Given the description of an element on the screen output the (x, y) to click on. 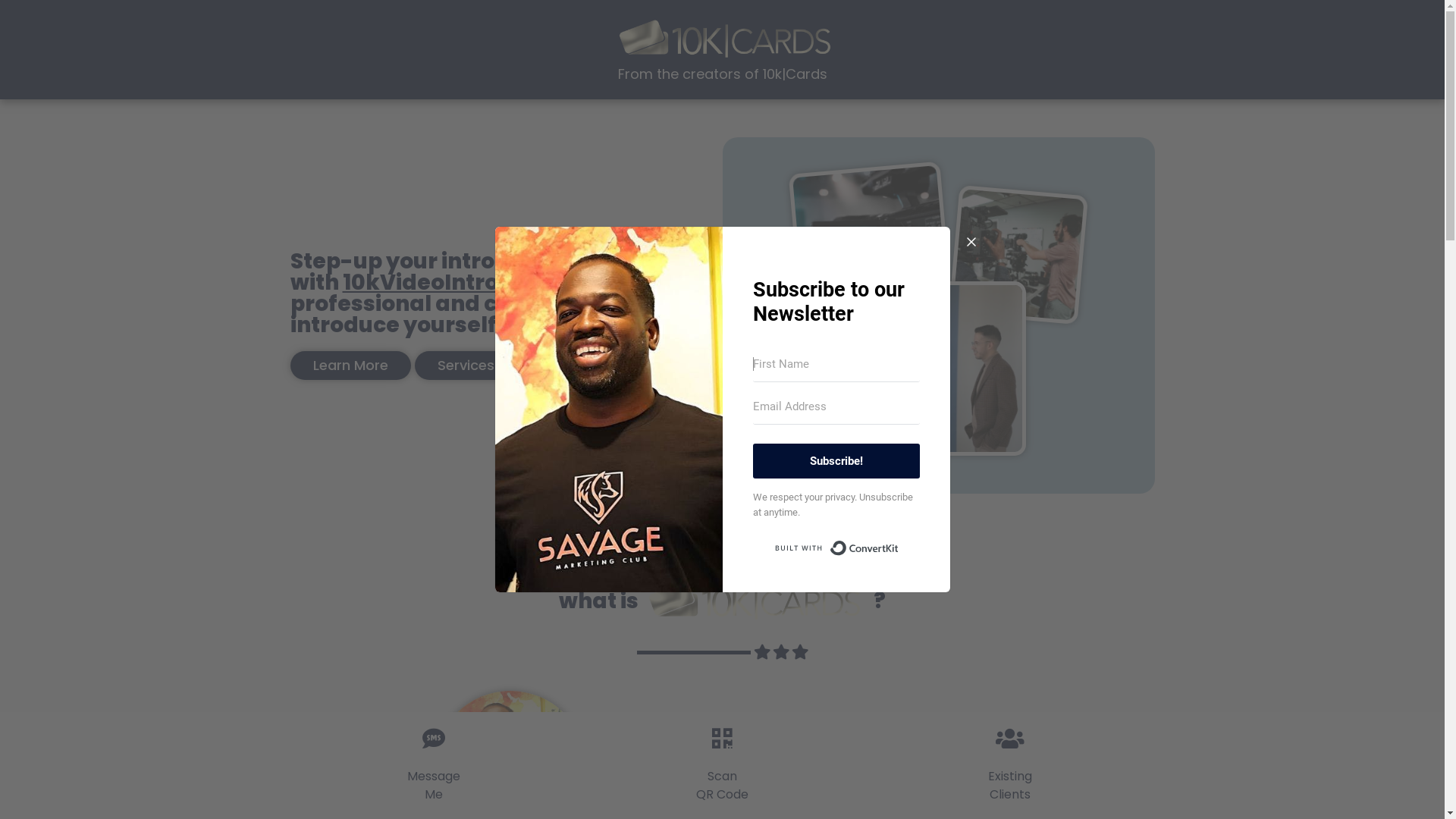
Subscribe! Element type: text (835, 461)
Services Element type: text (465, 365)
Built with ConvertKit Element type: text (836, 547)
Learn More Element type: text (349, 365)
